Given the description of an element on the screen output the (x, y) to click on. 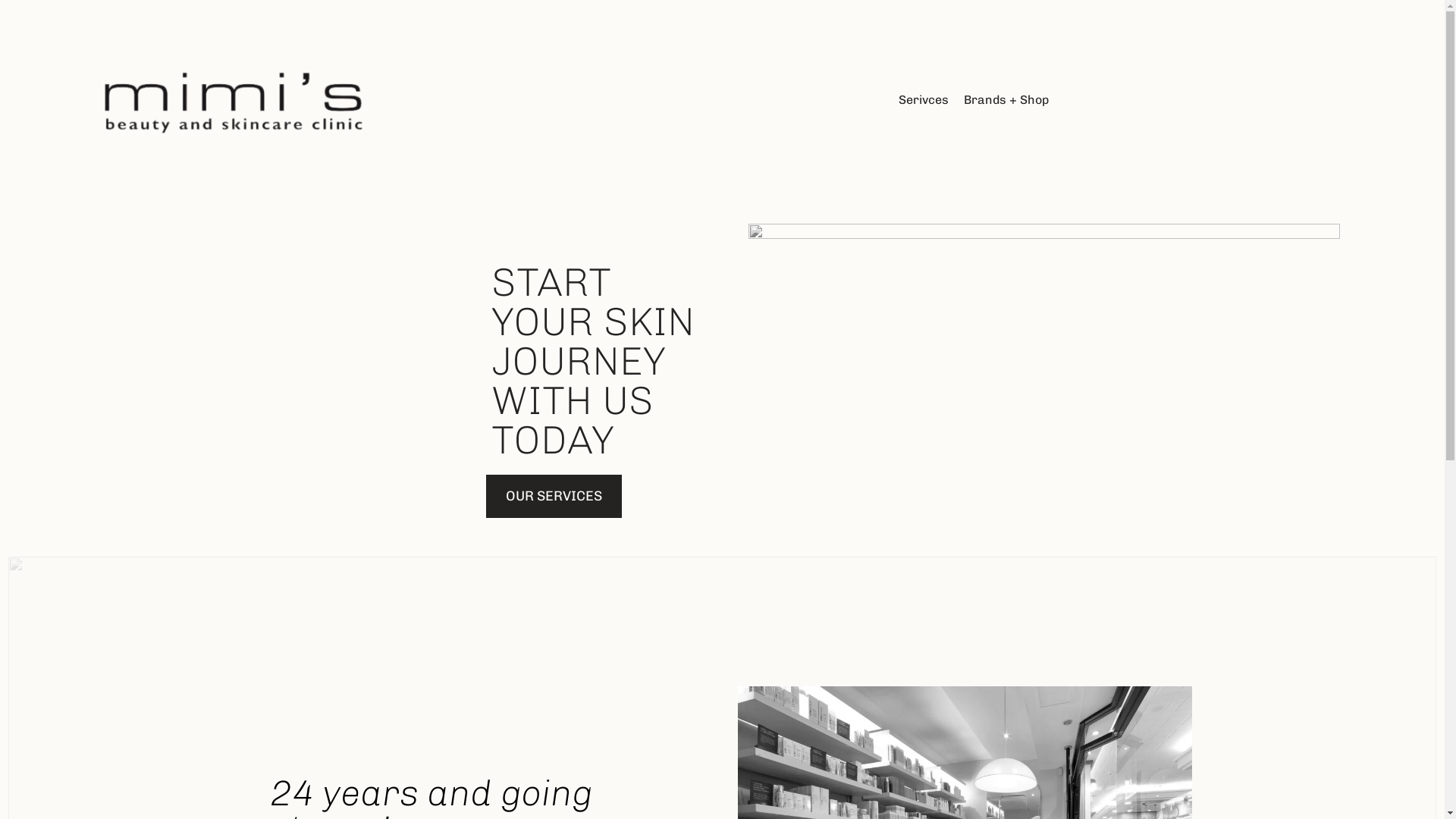
OUR SERVICES Element type: text (553, 495)
Serivces Element type: text (923, 99)
Brands + Shop Element type: text (1005, 99)
